Given the description of an element on the screen output the (x, y) to click on. 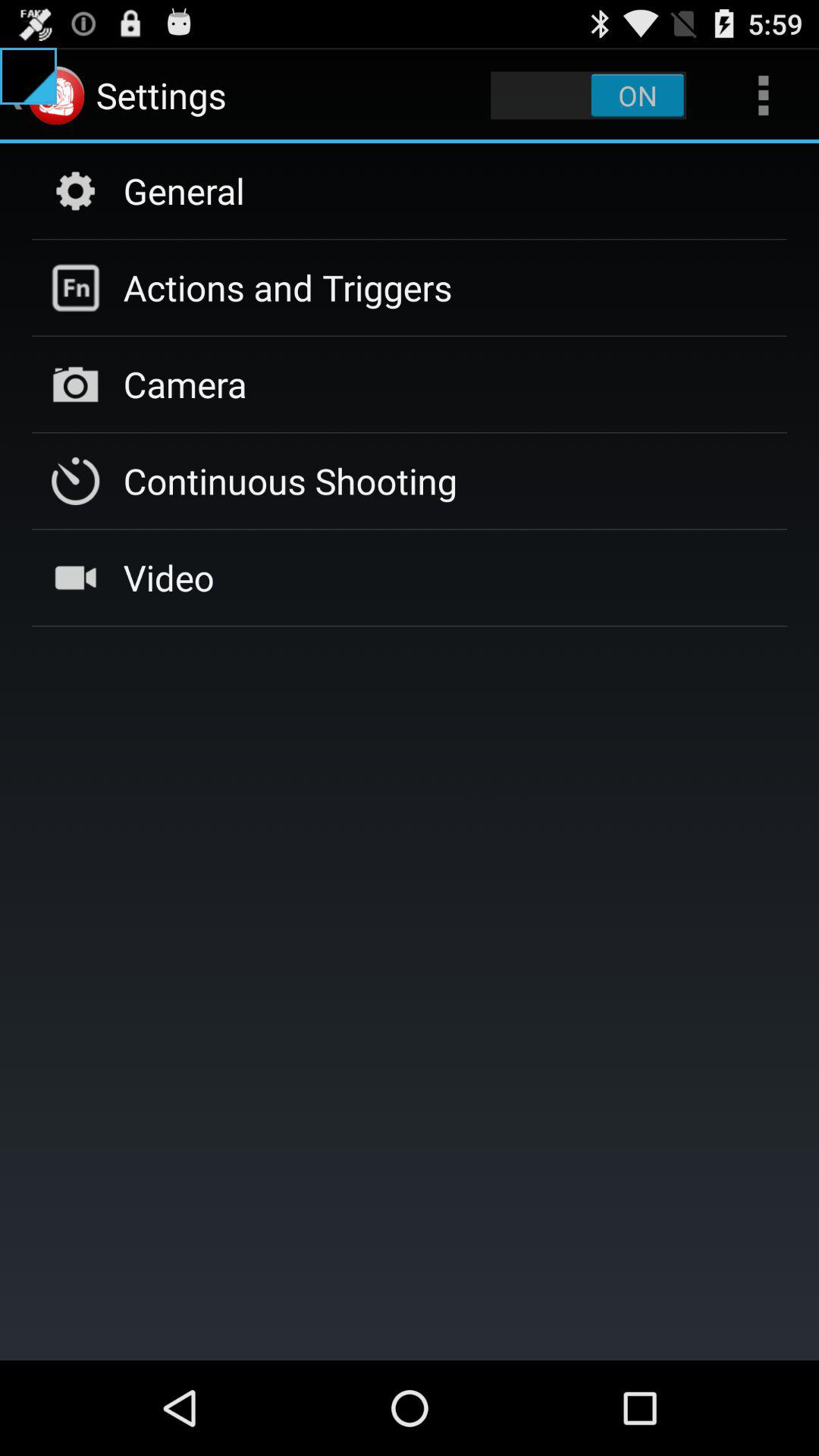
launch item below the settings item (183, 190)
